Given the description of an element on the screen output the (x, y) to click on. 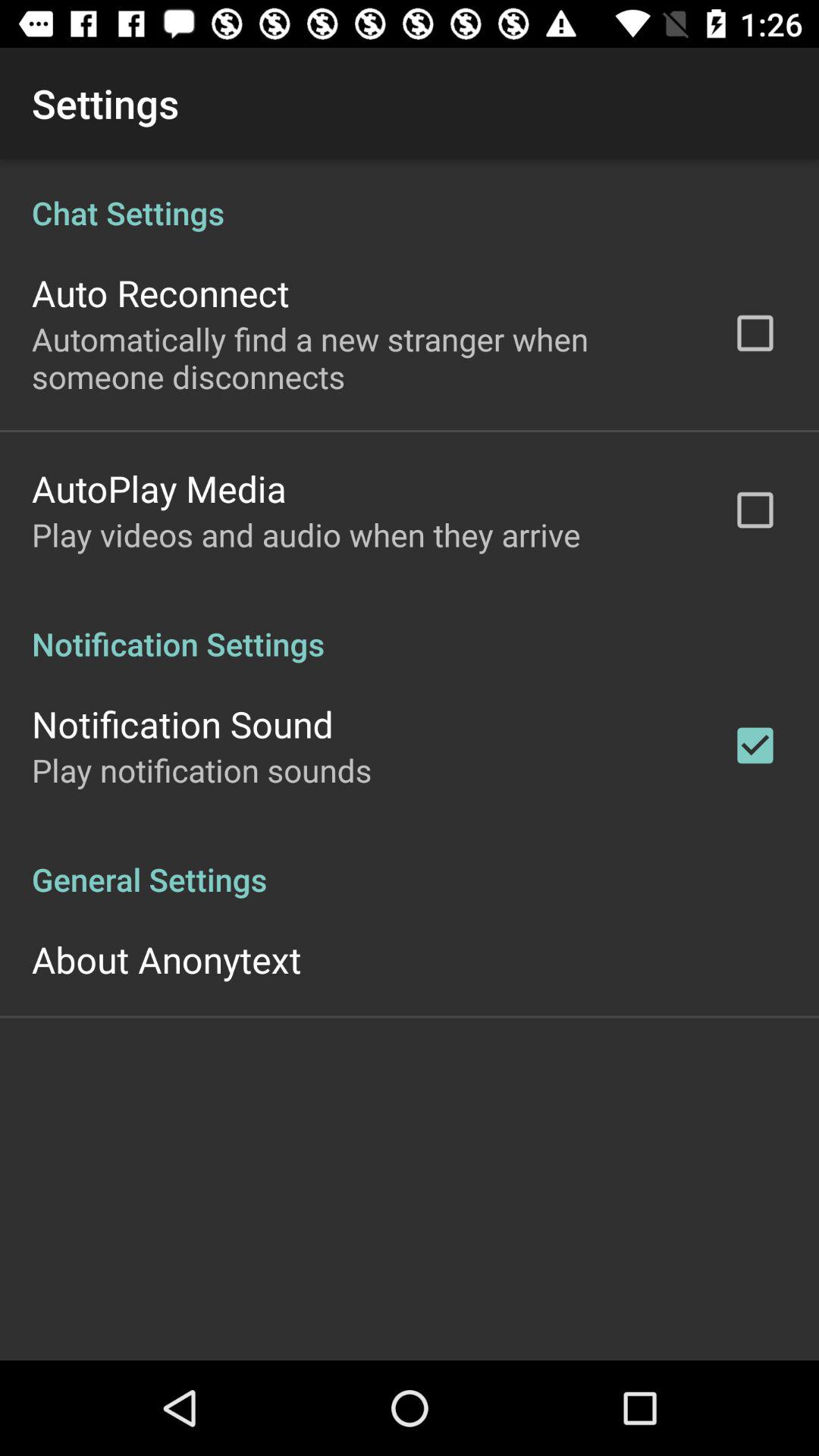
swipe to play videos and app (305, 534)
